Given the description of an element on the screen output the (x, y) to click on. 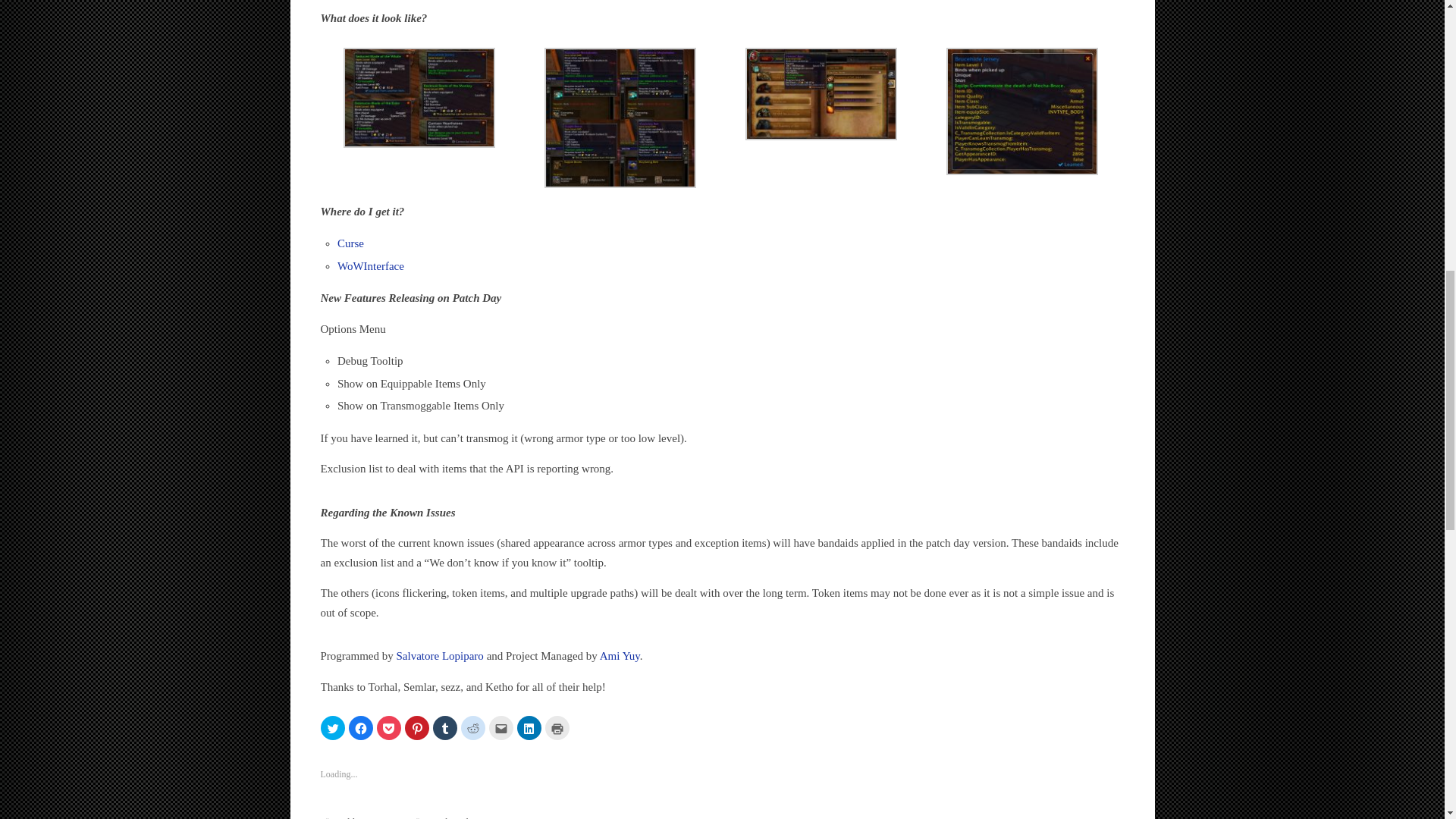
Click to share on Twitter (331, 727)
Click to share on Facebook (360, 727)
